Given the description of an element on the screen output the (x, y) to click on. 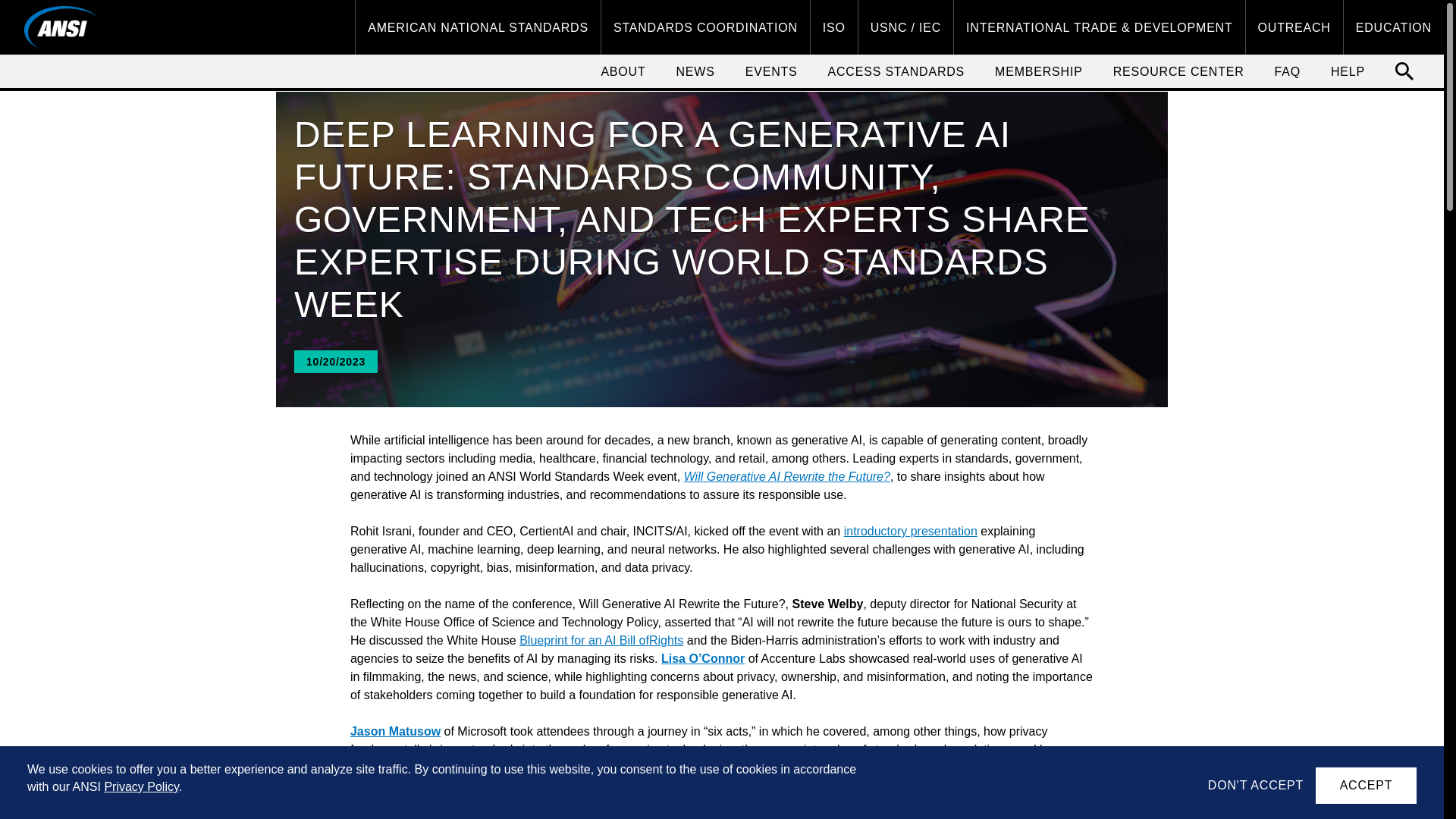
AMERICAN NATIONAL STANDARDS (477, 27)
Home (60, 26)
STANDARDS COORDINATION (705, 27)
